Given the description of an element on the screen output the (x, y) to click on. 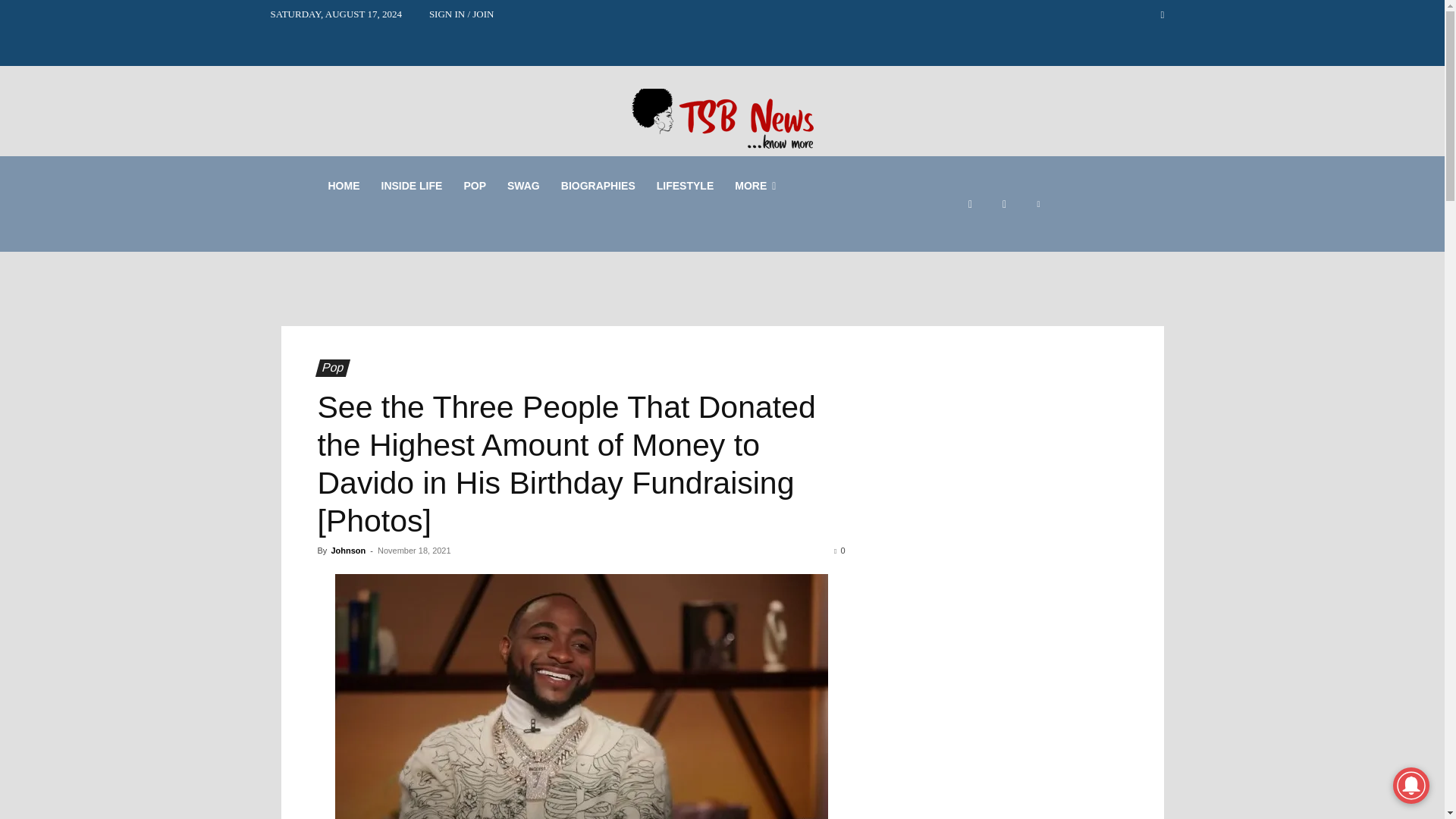
Pop (329, 367)
Johnson (347, 550)
BIOGRAPHIES (598, 185)
POP (474, 185)
INSIDE LIFE (410, 185)
HOME (343, 185)
0 (839, 550)
SWAG (523, 185)
Facebook (970, 203)
